Given the description of an element on the screen output the (x, y) to click on. 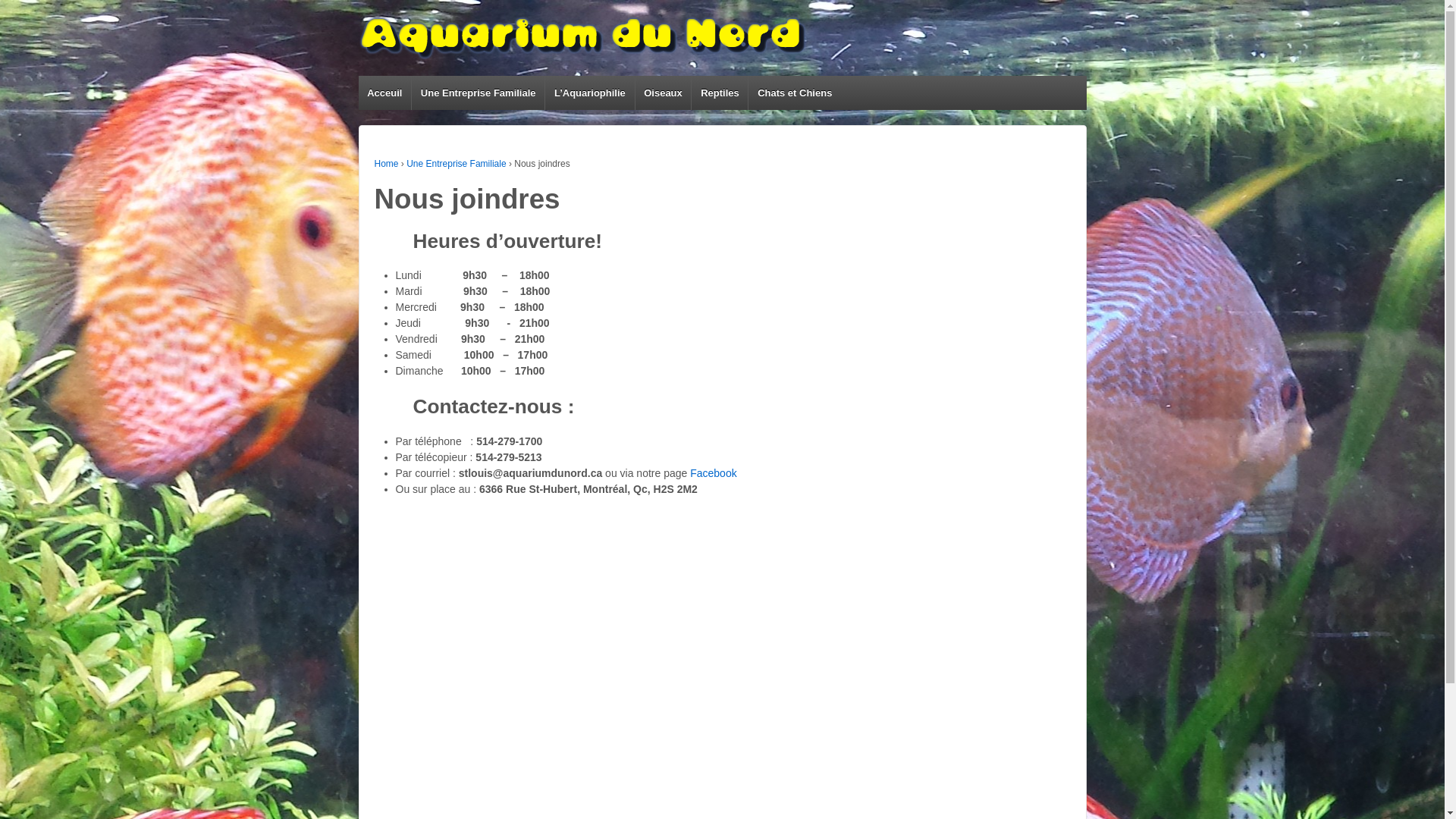
Oiseaux Element type: text (662, 92)
Reptiles Element type: text (718, 92)
Une Entreprise Familiale Element type: text (477, 92)
Une Entreprise Familiale Element type: text (455, 163)
Acceuil Element type: text (384, 92)
Home Element type: text (386, 163)
Facebook Element type: text (713, 473)
Chats et Chiens Element type: text (793, 92)
